Given the description of an element on the screen output the (x, y) to click on. 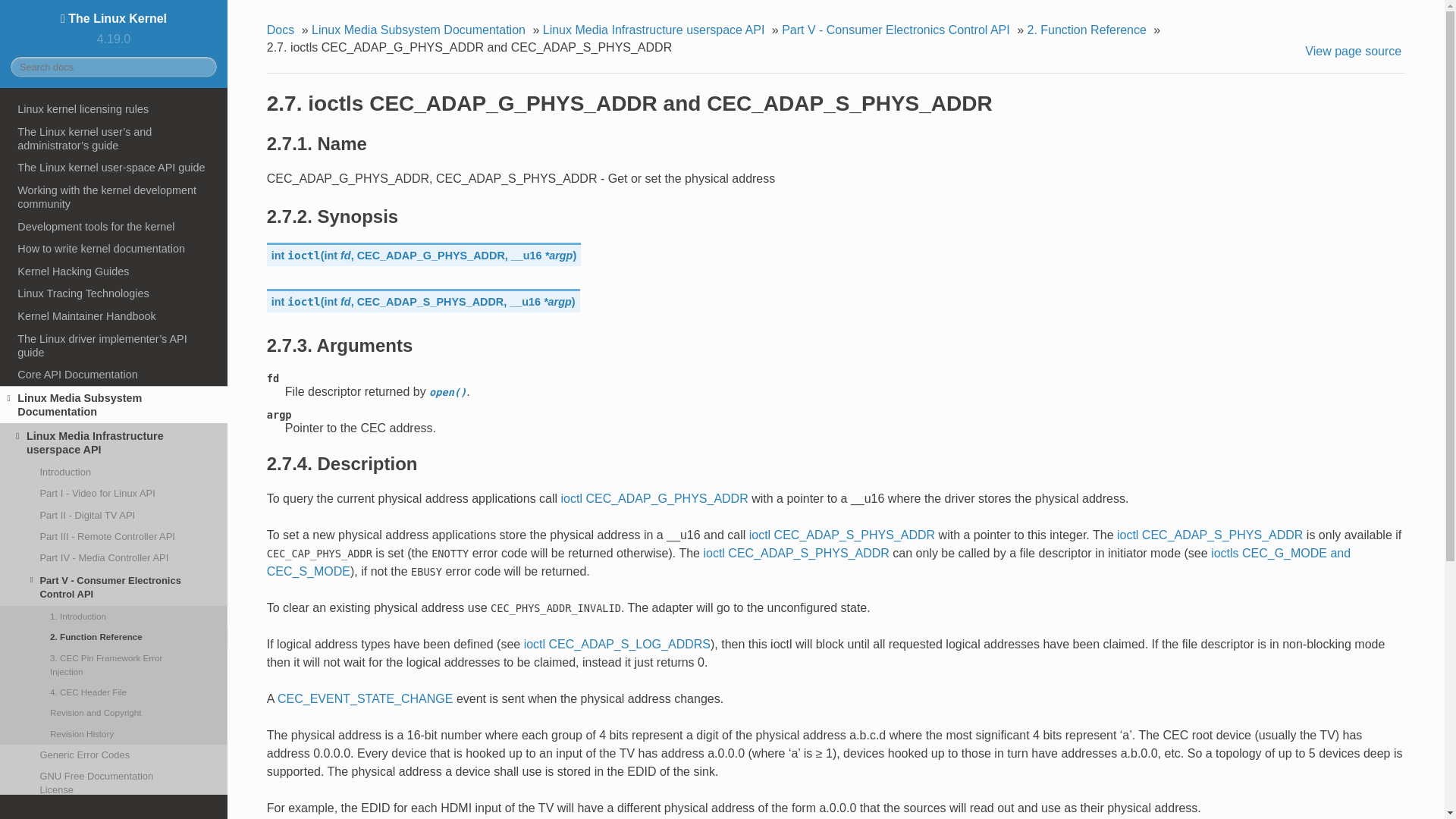
Revision History (113, 733)
2. Function Reference (113, 637)
Development tools for the kernel (113, 226)
Working with the kernel development community (113, 197)
Part I - Video for Linux API (113, 493)
Part IV - Media Controller API (113, 557)
Revision and Copyright (113, 712)
GNU Free Documentation License (113, 782)
The Linux kernel user-space API guide (113, 167)
Kernel Maintainer Handbook (113, 315)
Linux Tracing Technologies (113, 293)
Core API Documentation (113, 374)
4. CEC Header File (113, 691)
Linux kernel licensing rules (113, 108)
3. CEC Pin Framework Error Injection (113, 664)
